Given the description of an element on the screen output the (x, y) to click on. 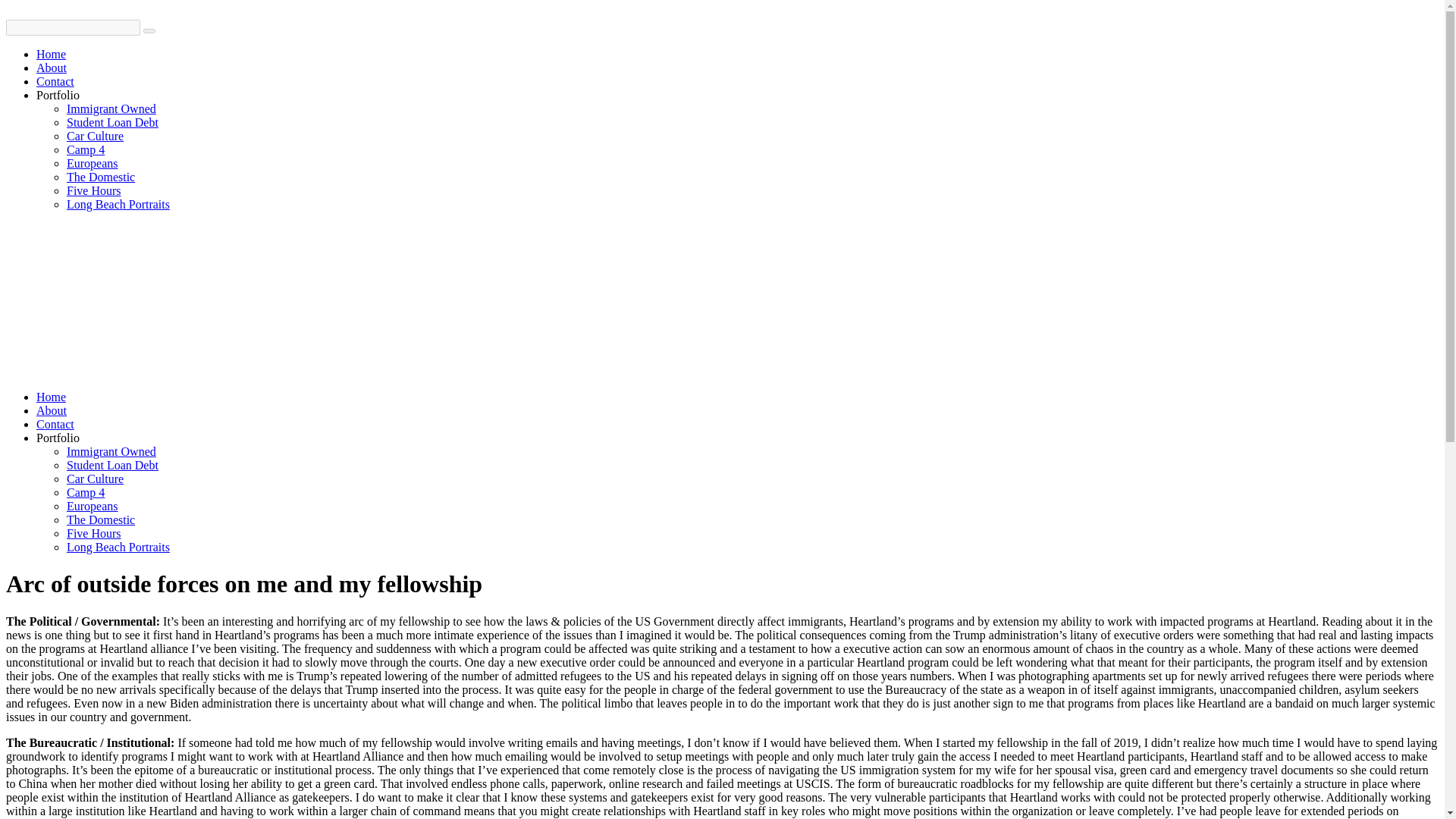
Contact (55, 81)
Europeans (91, 163)
Student Loan Debt (112, 122)
The Domestic (100, 519)
The Domestic (100, 176)
Camp 4 (85, 492)
Europeans (91, 505)
Long Beach Portraits (118, 204)
Search (148, 30)
Five Hours (93, 190)
About (51, 67)
Student Loan Debt (112, 464)
Portfolio (58, 94)
Home (50, 53)
Car Culture (94, 478)
